Given the description of an element on the screen output the (x, y) to click on. 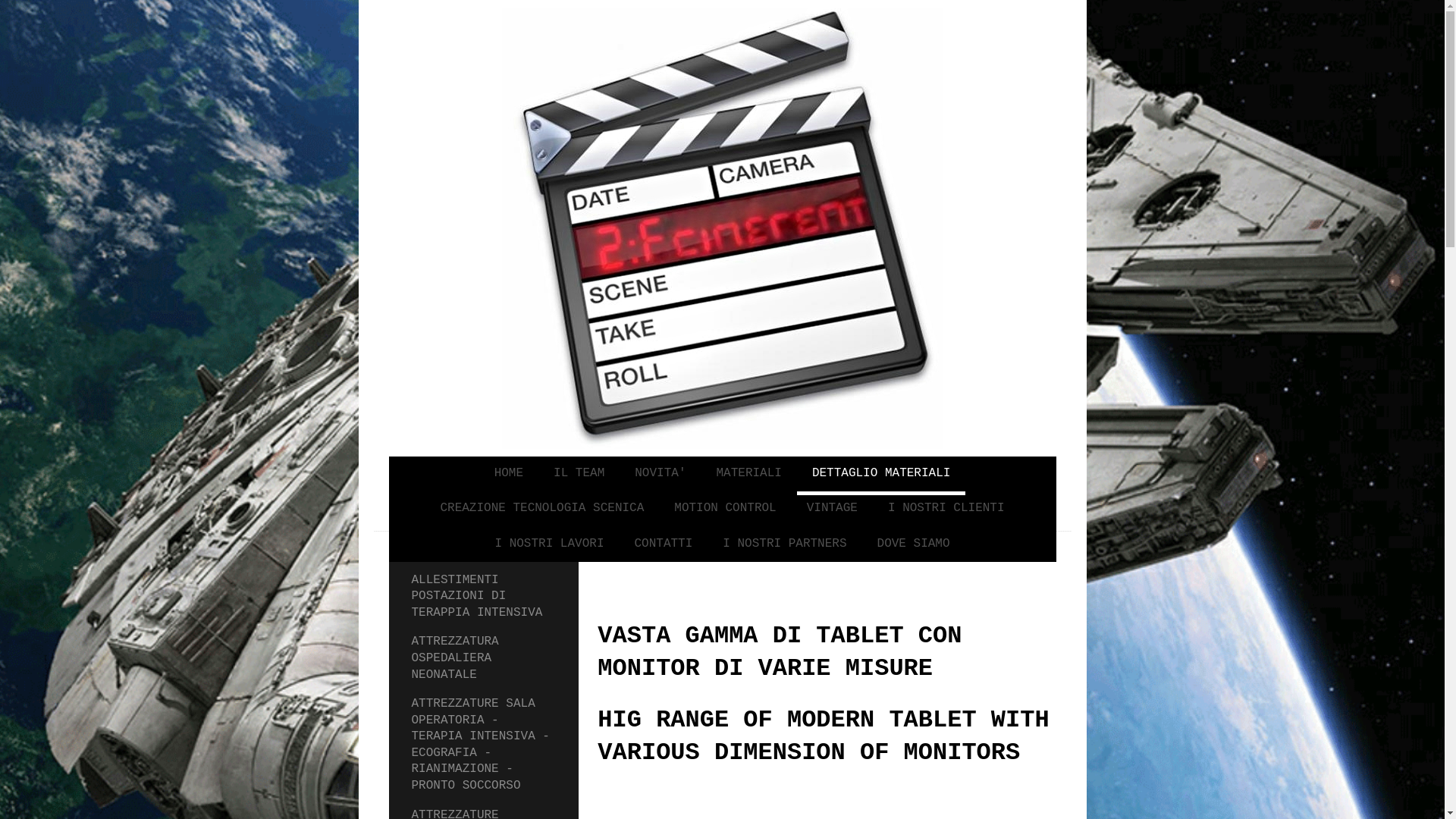
DOVE SIAMO Element type: text (913, 546)
VINTAGE Element type: text (831, 510)
CREAZIONE TECNOLOGIA SCENICA Element type: text (541, 510)
I NOSTRI PARTNERS Element type: text (784, 546)
CONTATTI Element type: text (662, 546)
NOVITA' Element type: text (659, 475)
ALLESTIMENTI POSTAZIONI DI TERAPPIA INTENSIVA Element type: text (483, 598)
MOTION CONTROL Element type: text (724, 510)
MATERIALI Element type: text (748, 475)
I NOSTRI LAVORI Element type: text (548, 546)
ATTREZZATURA OSPEDALIERA NEONATALE Element type: text (483, 660)
I NOSTRI CLIENTI Element type: text (945, 510)
DETTAGLIO MATERIALI Element type: text (881, 475)
HOME Element type: text (508, 475)
IL TEAM Element type: text (578, 475)
